Given the description of an element on the screen output the (x, y) to click on. 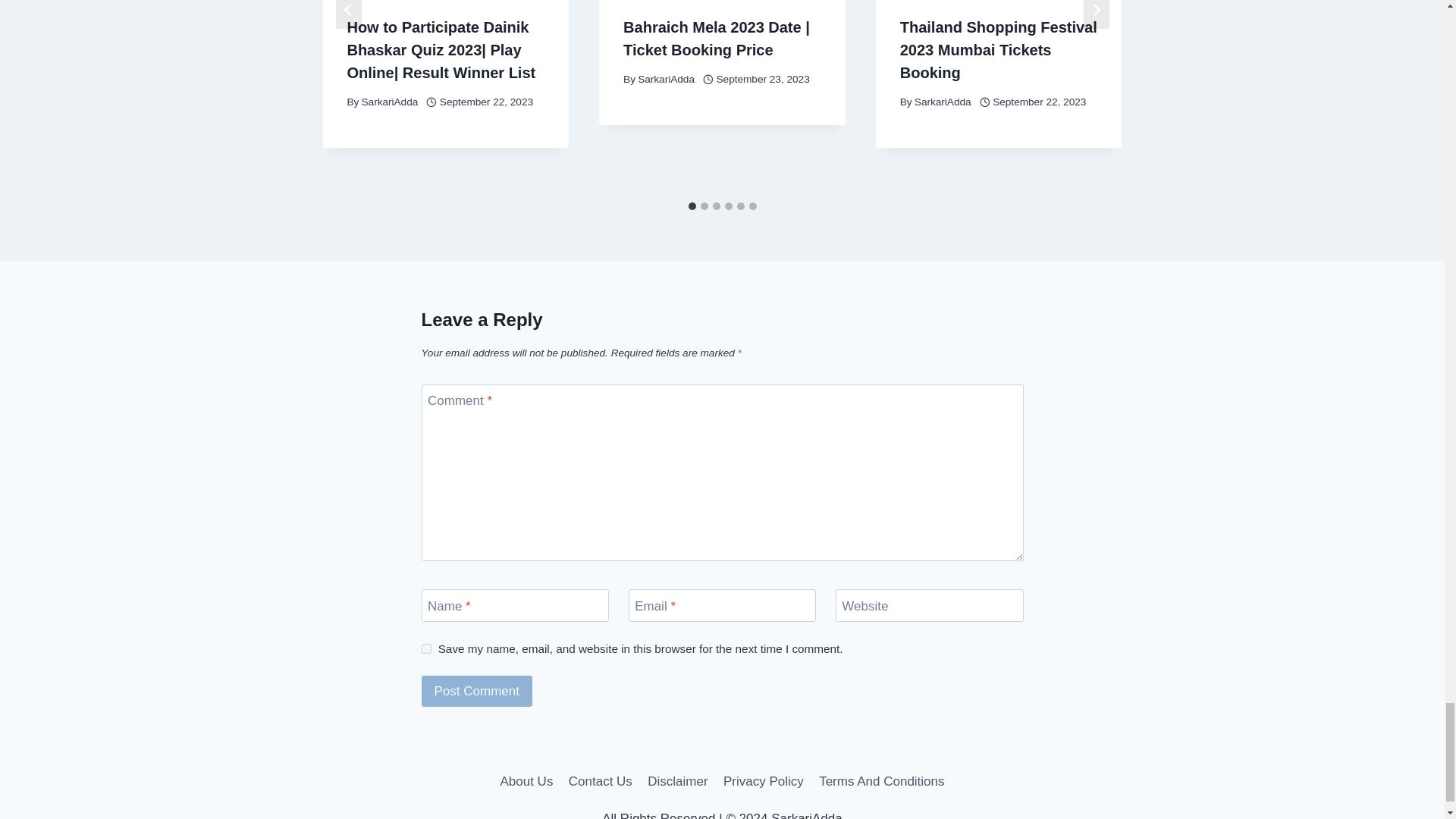
yes (426, 648)
Post Comment (477, 690)
